Given the description of an element on the screen output the (x, y) to click on. 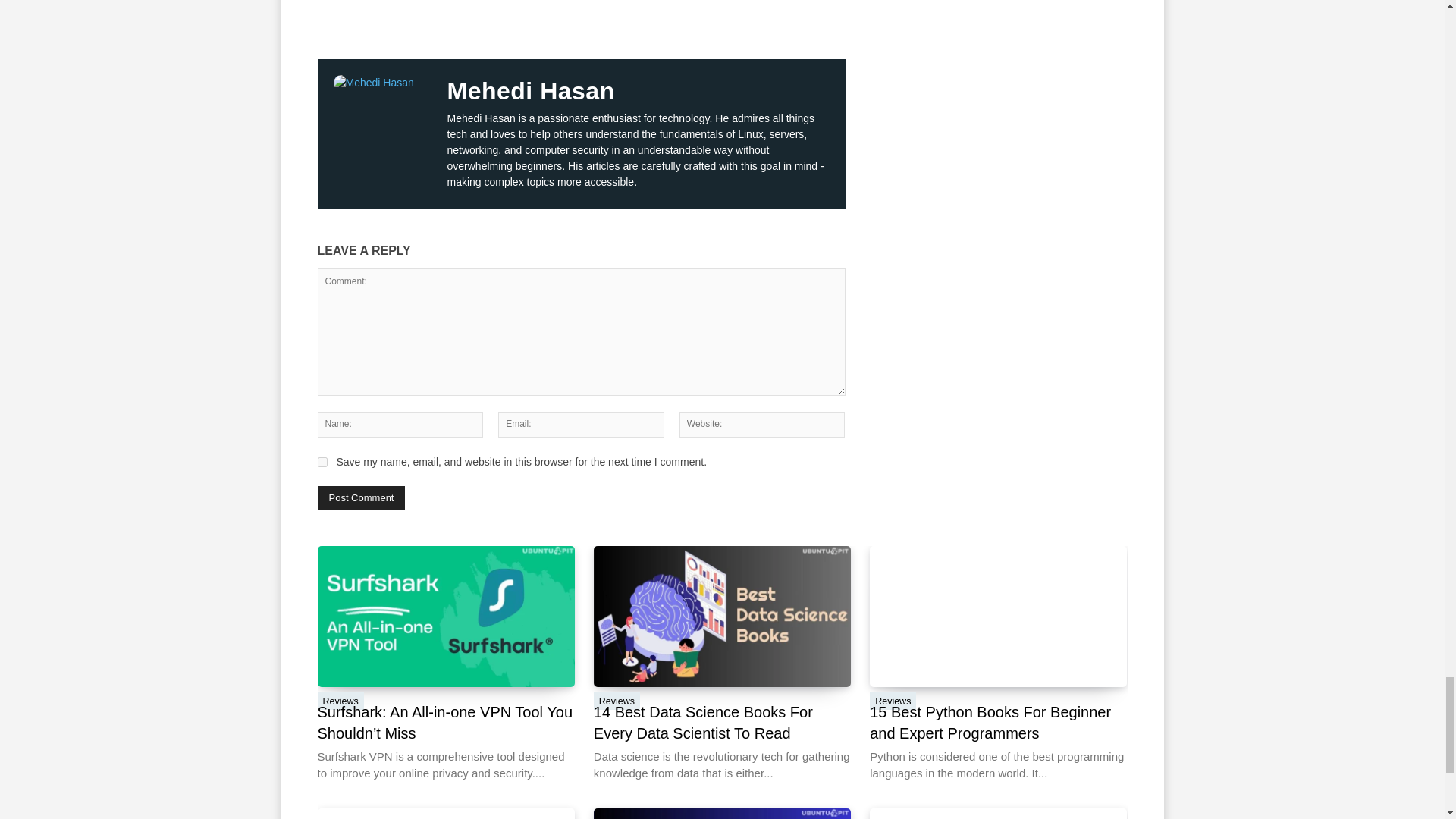
yes (321, 461)
Post Comment (360, 497)
